Given the description of an element on the screen output the (x, y) to click on. 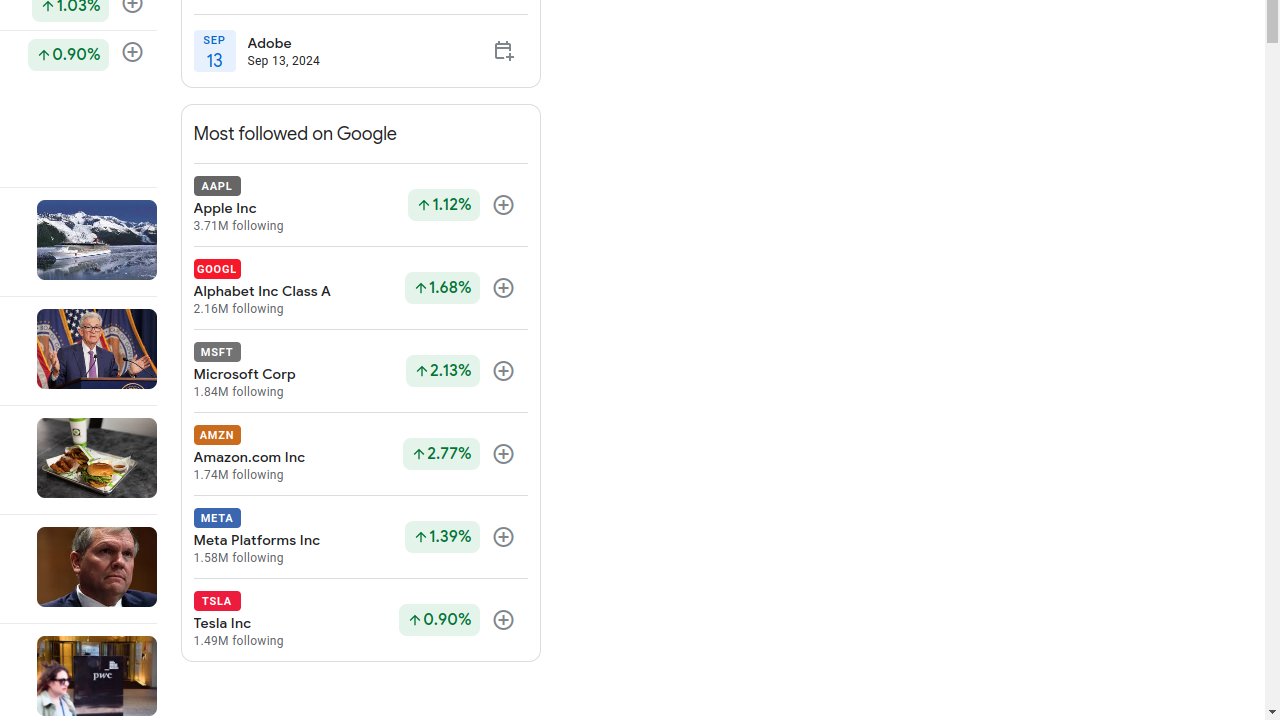
AAPL Apple Inc 3.71M following Up by 1.12% Follow Element type: link (360, 205)
Add to calendar Element type: link (503, 51)
Follow Element type: push-button (503, 621)
AMZN Amazon.com Inc 1.74M following Up by 2.77% Follow Element type: link (360, 454)
